Given the description of an element on the screen output the (x, y) to click on. 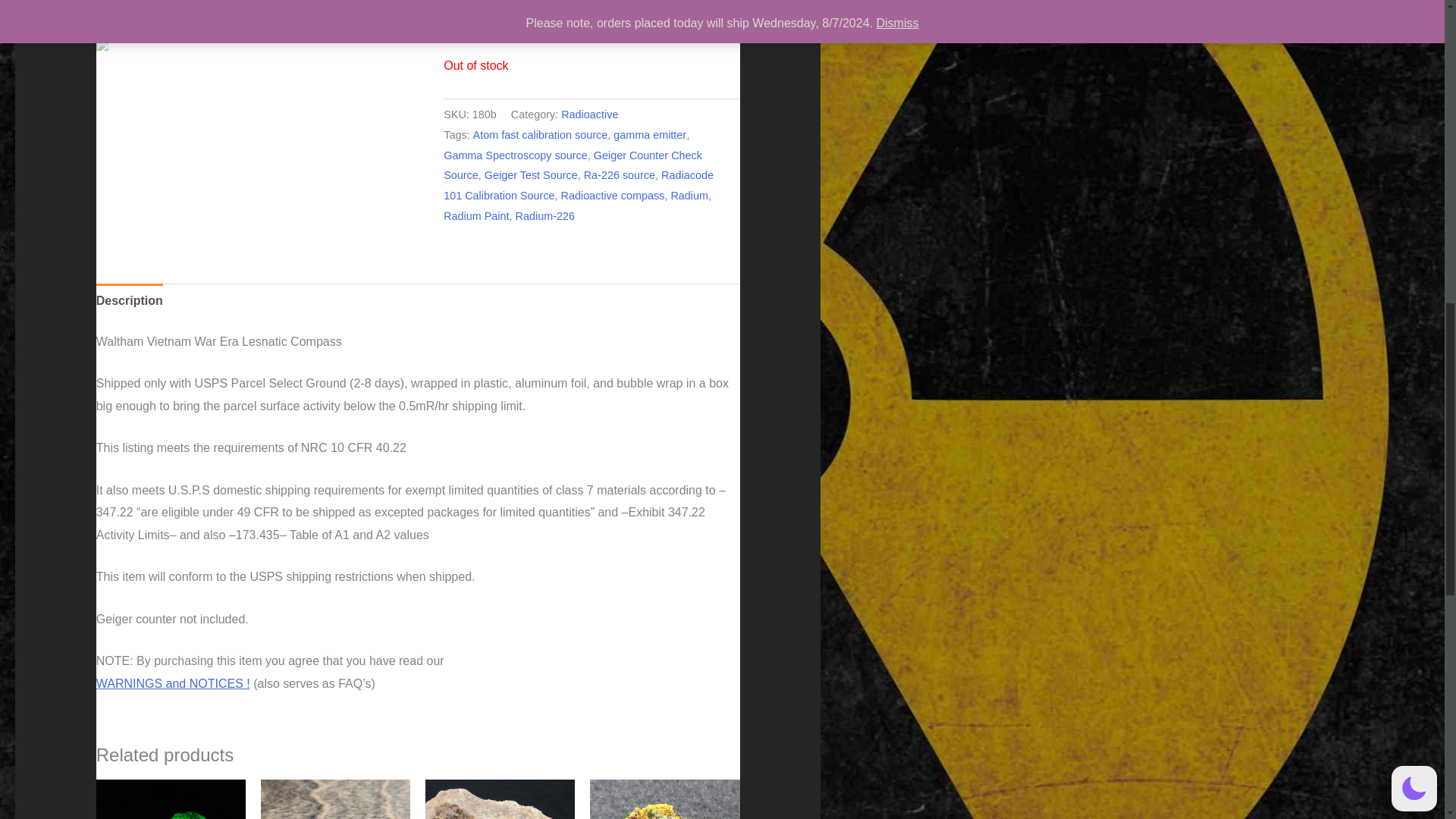
Geiger Counter Check Source (572, 165)
Atom fast calibration source (540, 134)
gamma emitter (648, 134)
Gamma Spectroscopy source (516, 155)
Radioactive (588, 114)
Geiger Test Source (531, 174)
